Given the description of an element on the screen output the (x, y) to click on. 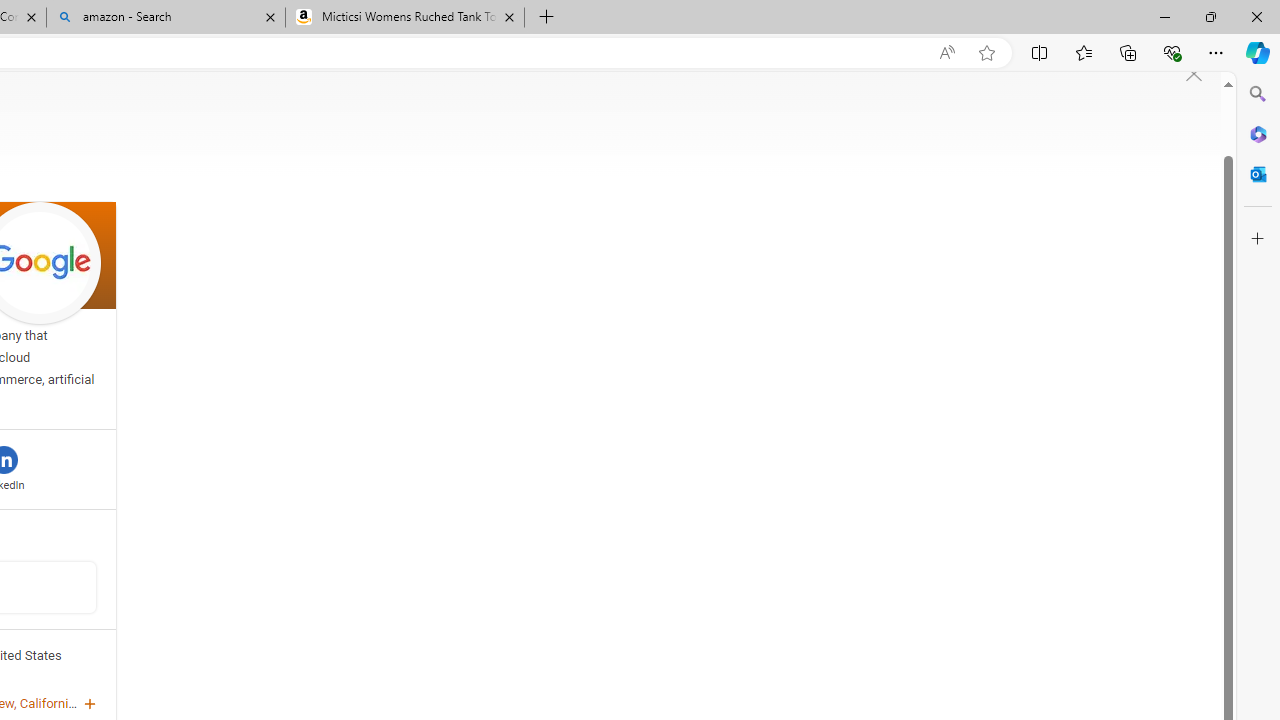
amazon - Search (166, 17)
